Given the description of an element on the screen output the (x, y) to click on. 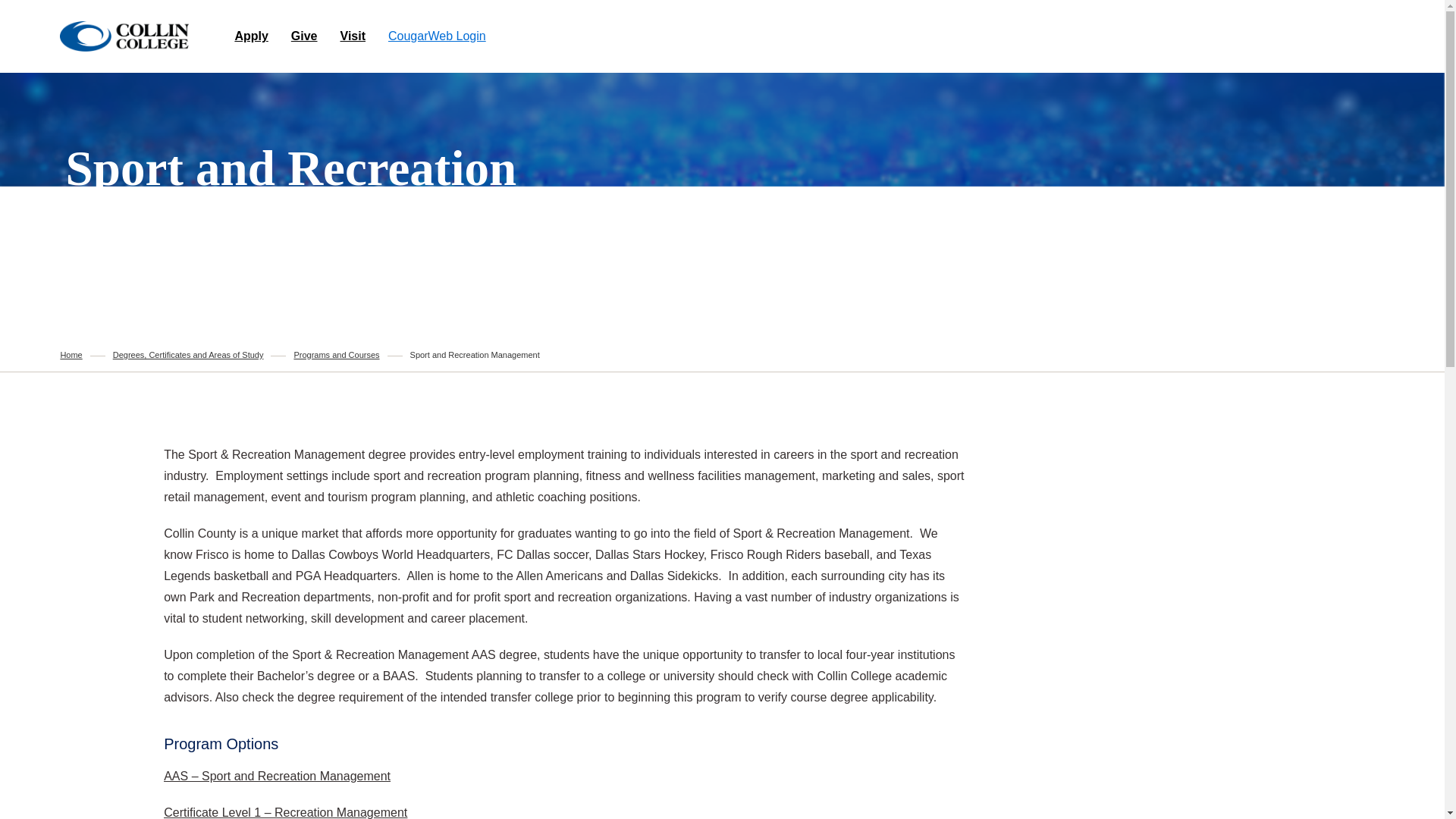
Degrees, Certificates and Areas of Study (188, 355)
Home (70, 355)
Give (304, 36)
Apply (250, 36)
Programs and Courses (336, 355)
Visit (353, 36)
CougarWeb Login (437, 36)
Home (124, 36)
